Given the description of an element on the screen output the (x, y) to click on. 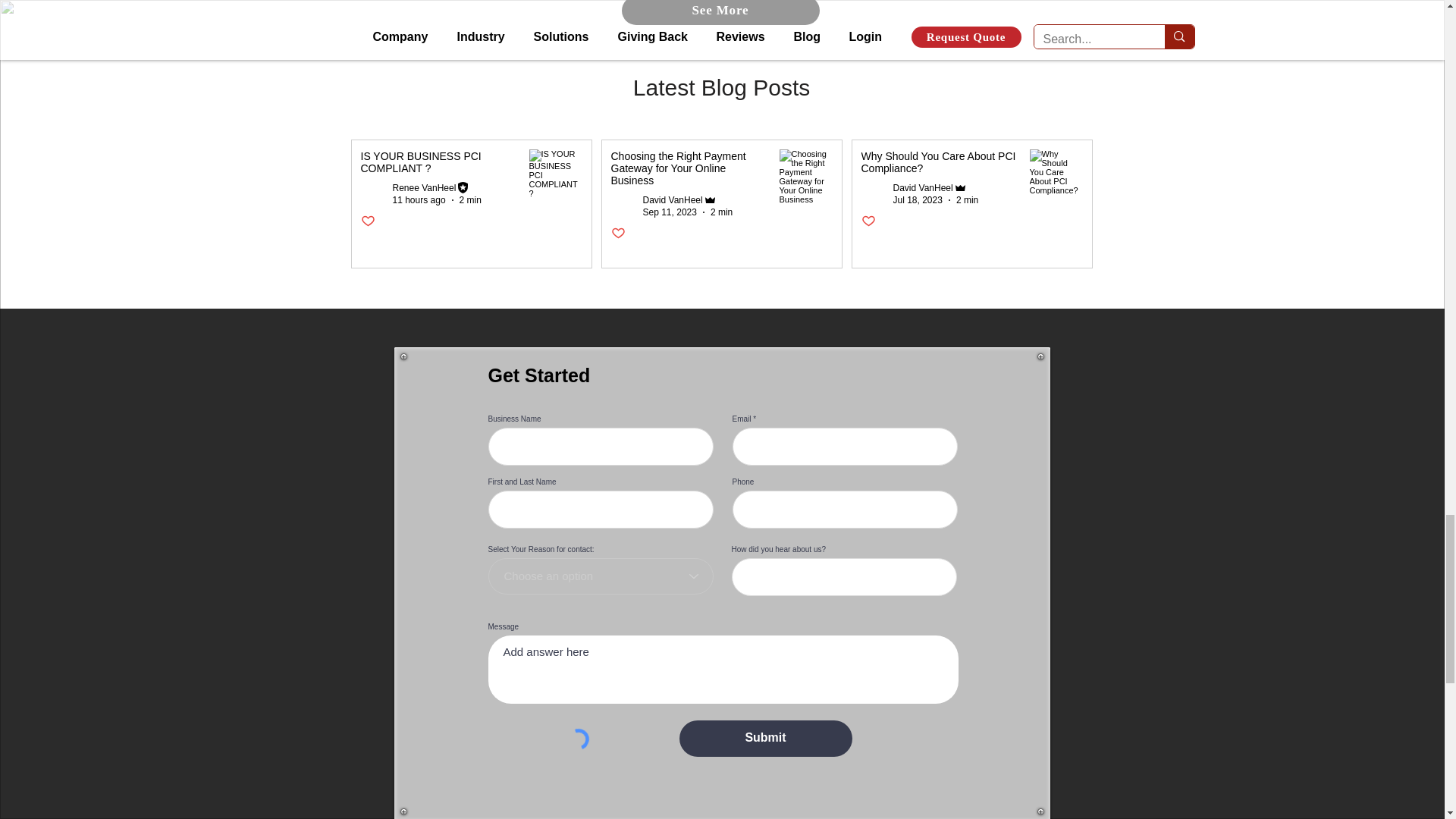
Sep 11, 2023 (670, 212)
Renee VanHeel (425, 187)
11 hours ago (419, 199)
Jul 18, 2023 (917, 199)
2 min (721, 212)
2 min (470, 199)
David VanHeel (923, 187)
2 min (967, 199)
David VanHeel (673, 199)
